Given the description of an element on the screen output the (x, y) to click on. 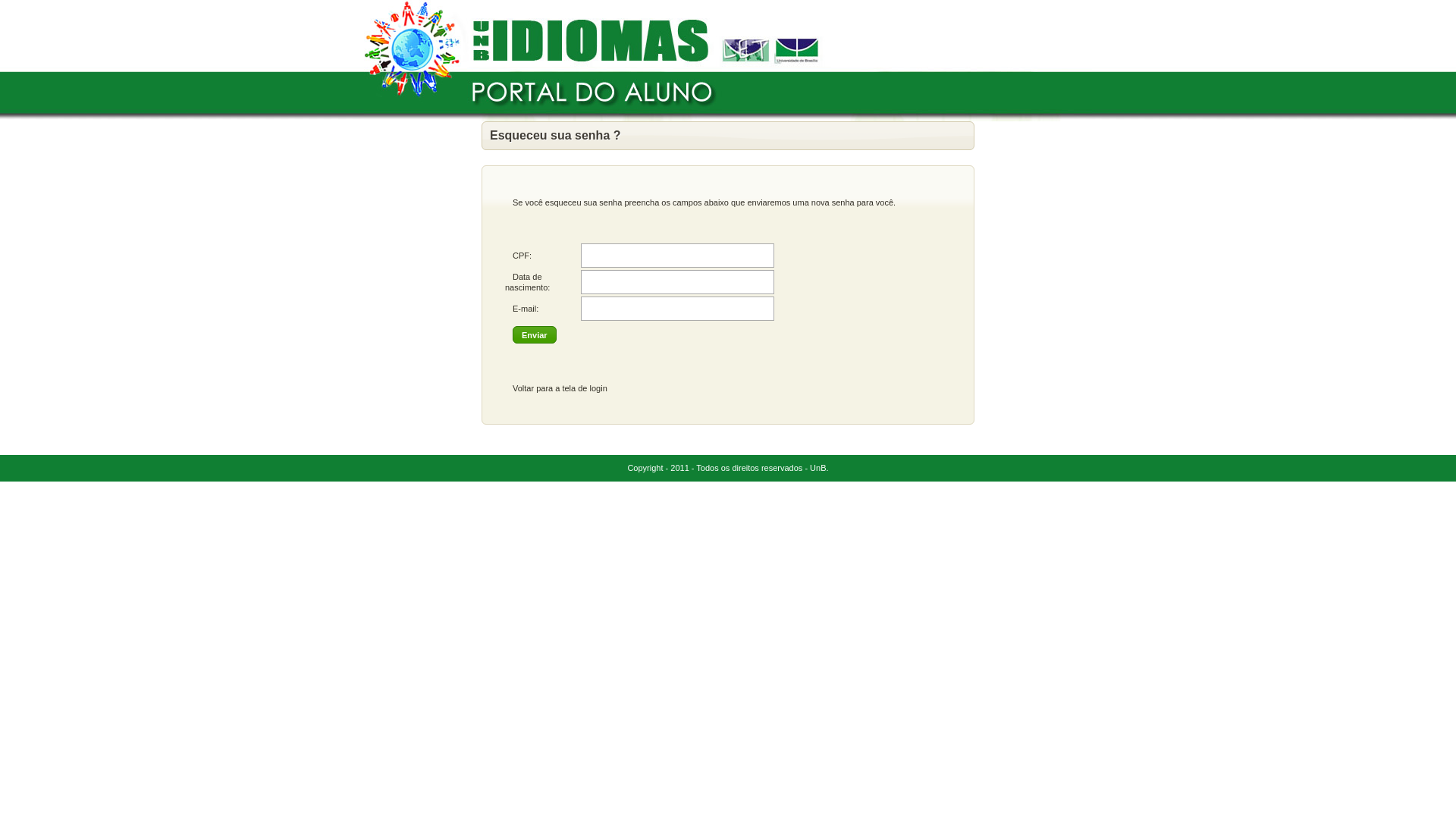
Voltar para a tela de login Element type: text (559, 387)
Enviar Element type: text (534, 334)
